Given the description of an element on the screen output the (x, y) to click on. 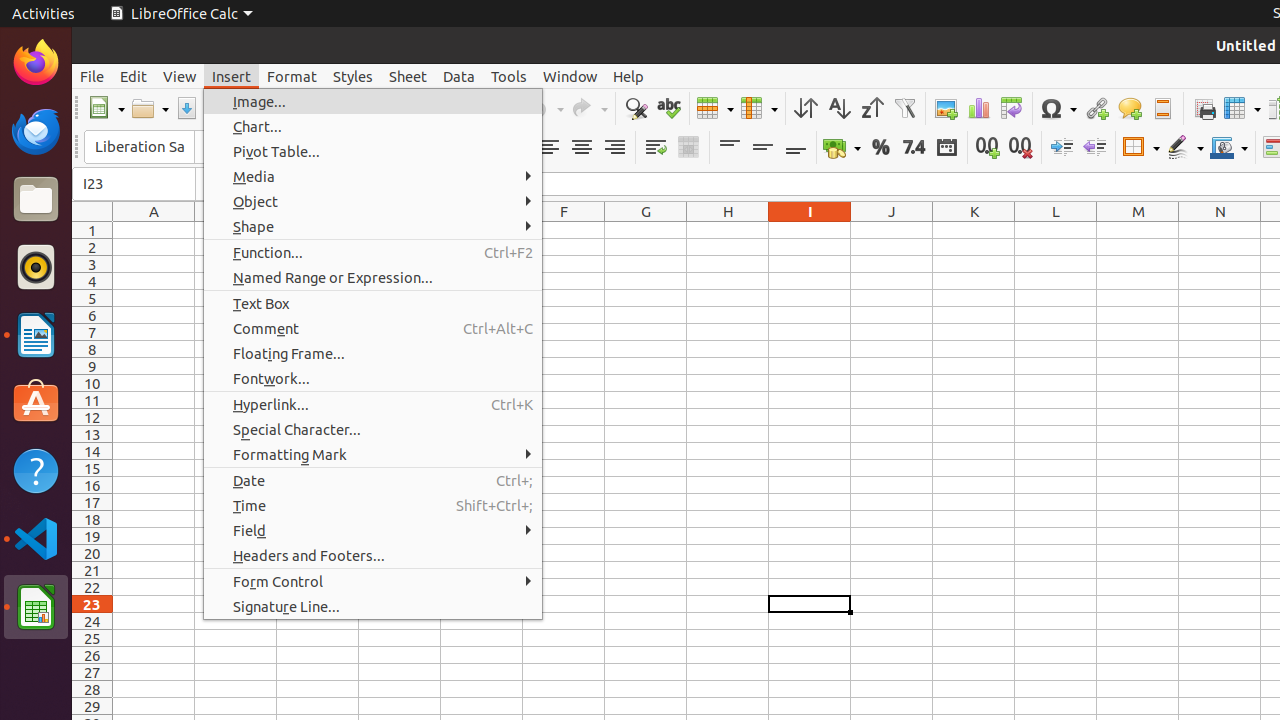
Borders (Shift to overwrite) Element type: push-button (1141, 147)
Align Center Element type: push-button (581, 147)
